Given the description of an element on the screen output the (x, y) to click on. 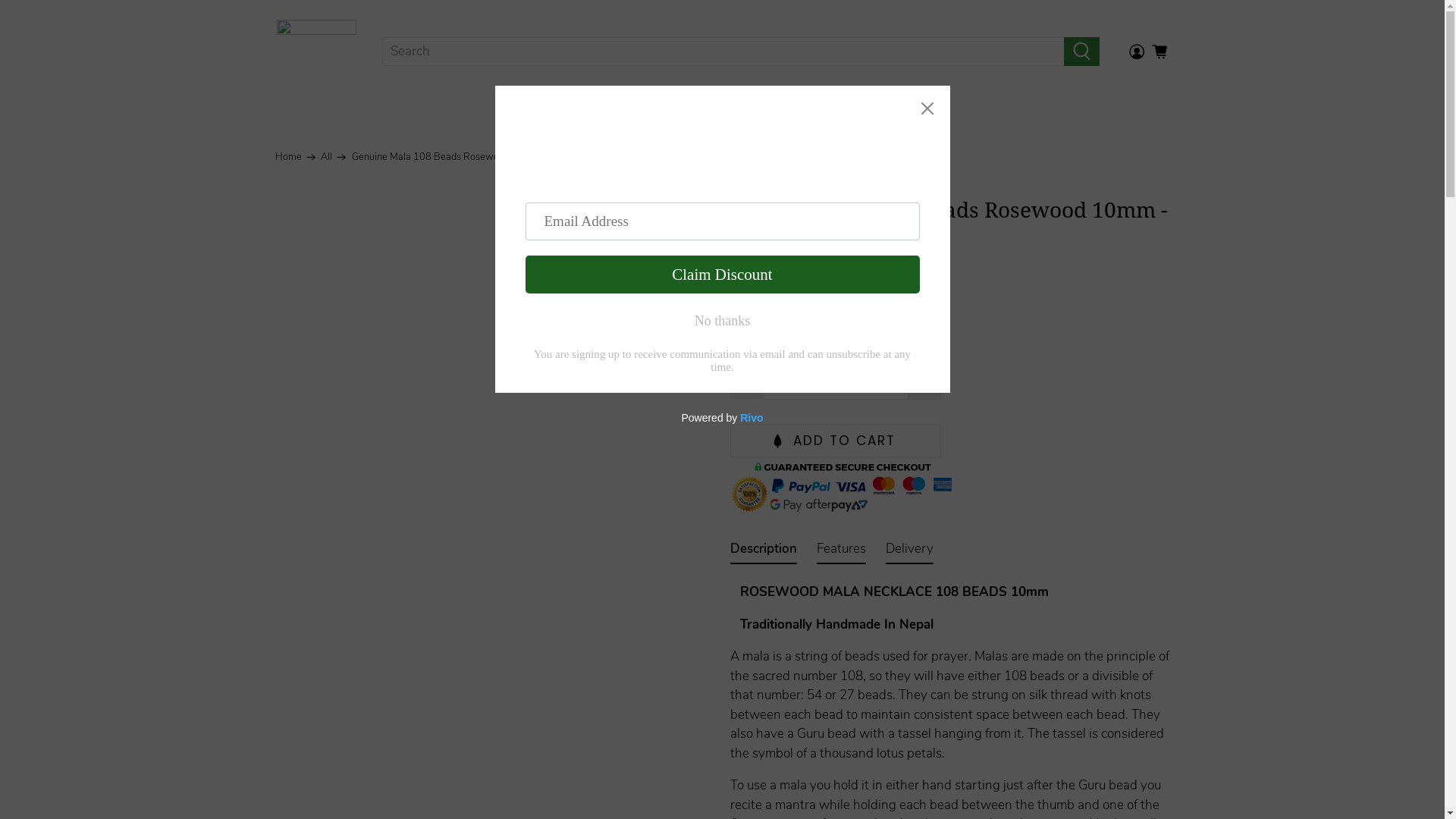
Features Element type: text (840, 551)
Home Element type: text (287, 157)
EXPLORE ALL COLLECTIONS Element type: text (707, 110)
Description Element type: text (762, 551)
Island Buddha Element type: hover (316, 51)
Delivery Element type: text (909, 551)
TRACK MY ORDER Element type: text (882, 110)
NEW ARRIVAL Element type: text (546, 110)
ADD TO CART Element type: text (834, 440)
All Element type: text (326, 157)
